Given the description of an element on the screen output the (x, y) to click on. 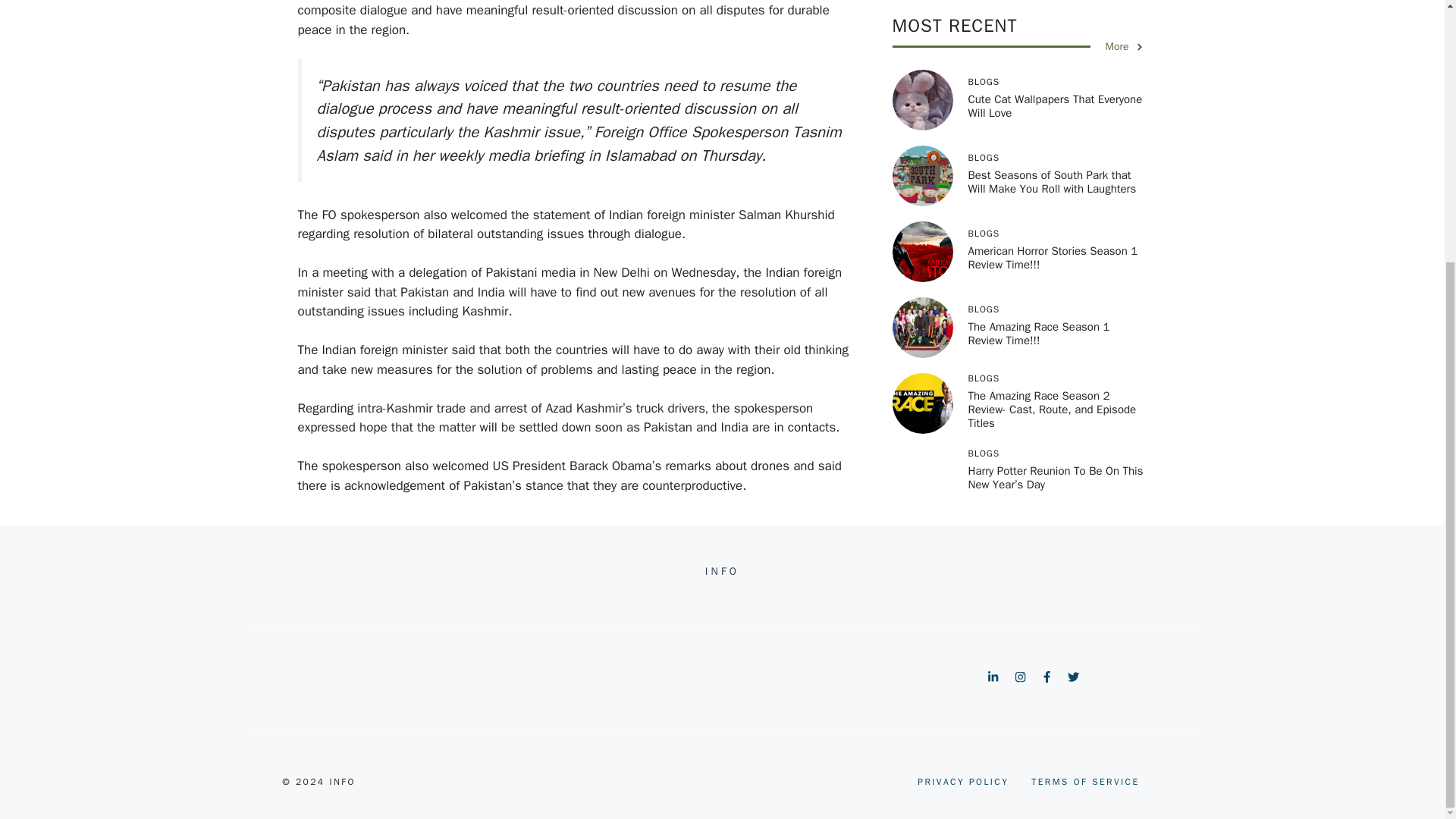
PRIVACY POLICY (963, 781)
More (1124, 14)
Cute Cat Wallpapers That Everyone Will Love (1054, 73)
TERMS OF SERVICE (1084, 781)
The Amazing Race Season 1 Review Time!!! (1038, 301)
American Horror Stories Season 1 Review Time!!! (1052, 225)
